Given the description of an element on the screen output the (x, y) to click on. 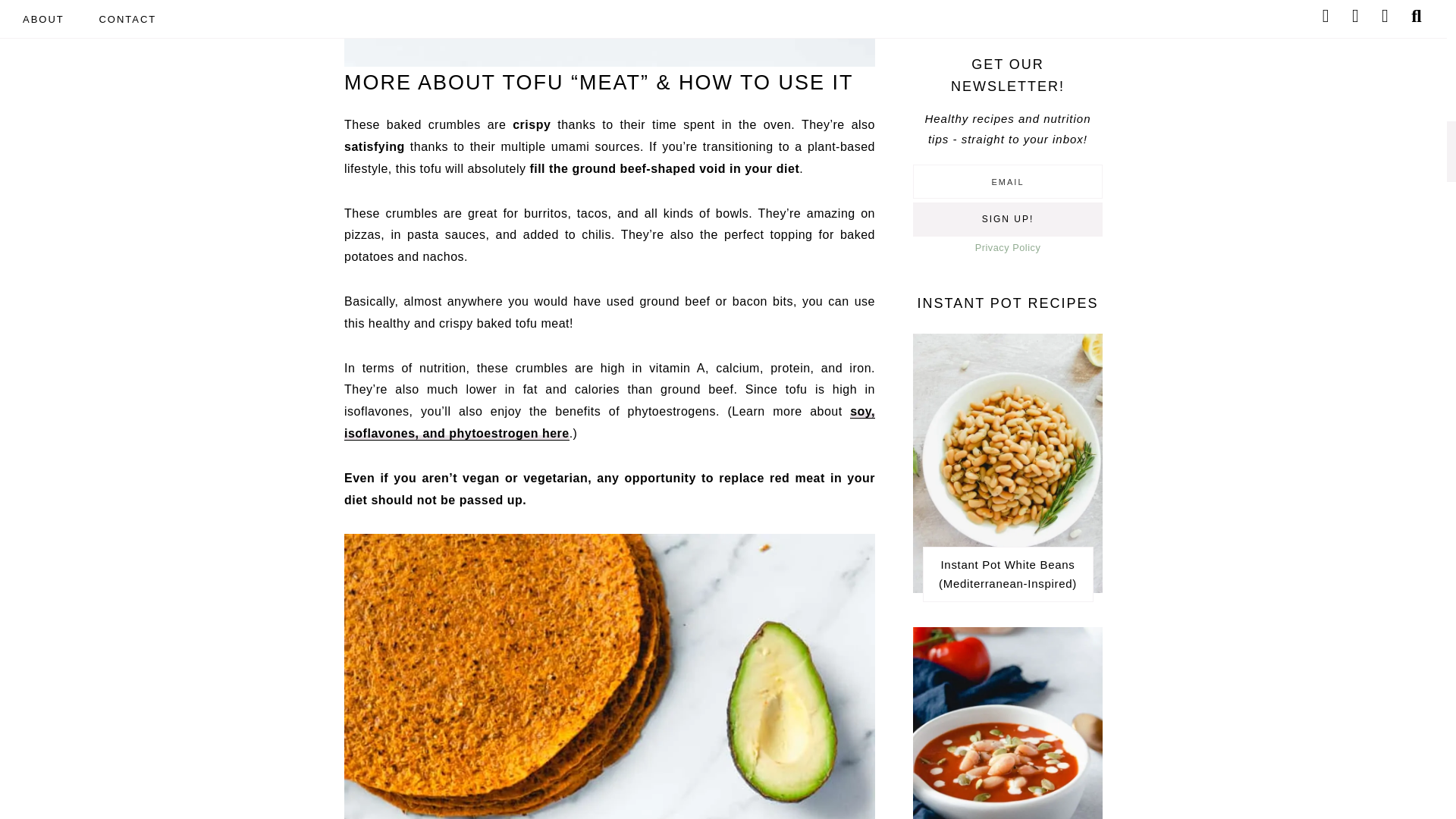
soy, isoflavones, and phytoestrogen here (609, 422)
Breakfast (1007, 13)
Sign Up! (1007, 219)
